Given the description of an element on the screen output the (x, y) to click on. 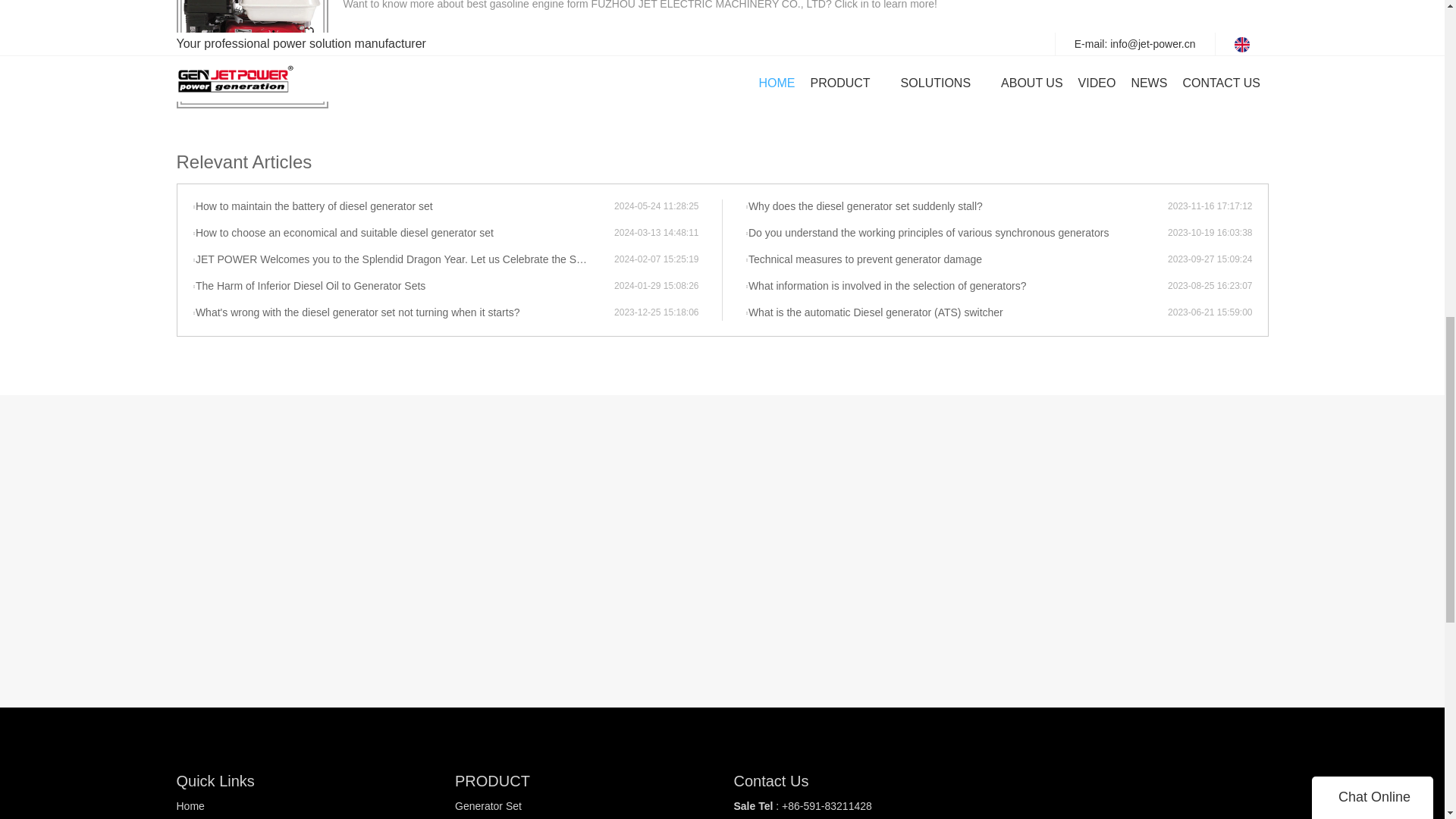
What information is involved in the selection of generators? (955, 286)
How to maintain the battery of diesel generator set (403, 206)
Why does the diesel generator set suddenly stall? (955, 206)
The Harm of Inferior Diesel Oil to Generator Sets (403, 286)
Technical measures to prevent generator damage (955, 259)
